Given the description of an element on the screen output the (x, y) to click on. 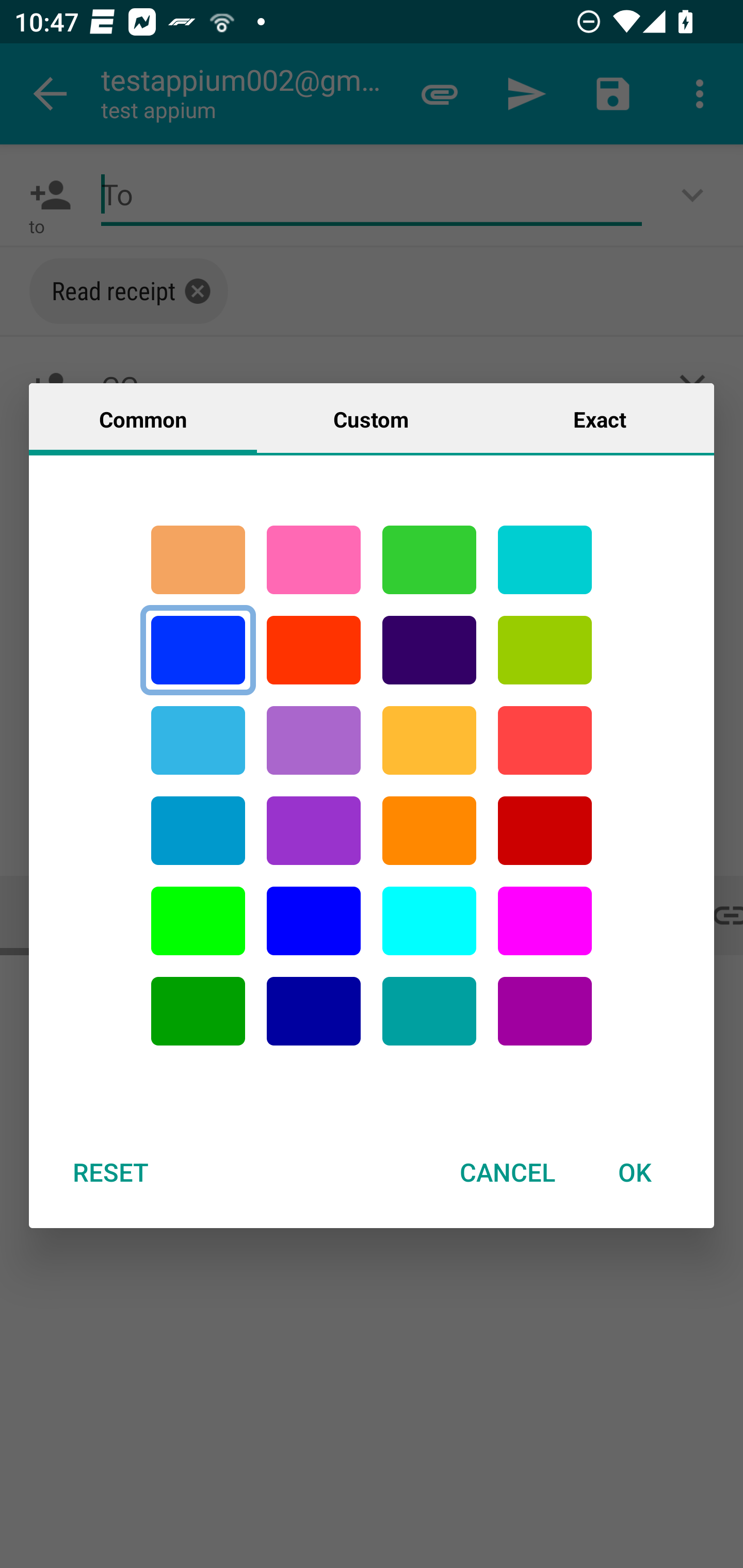
Common (142, 418)
Custom (371, 418)
Exact (599, 418)
Peach (197, 559)
Pink (313, 559)
Green (429, 559)
Cyan (544, 559)
Blue (197, 649)
Red (313, 649)
Dark purple (429, 649)
Light green (544, 649)
Cyan (197, 739)
Purple (313, 739)
Light orange (429, 739)
Light red (544, 739)
Dark cyan (197, 830)
Purple (313, 830)
Orange (429, 830)
Dark red (544, 830)
Light green (197, 920)
Blue (313, 920)
Light cyan (429, 920)
Light purple (544, 920)
Dark green (197, 1010)
Dark blue (313, 1010)
Cyan (429, 1010)
Purple (544, 1010)
RESET (110, 1171)
CANCEL (507, 1171)
OK (634, 1171)
